Given the description of an element on the screen output the (x, y) to click on. 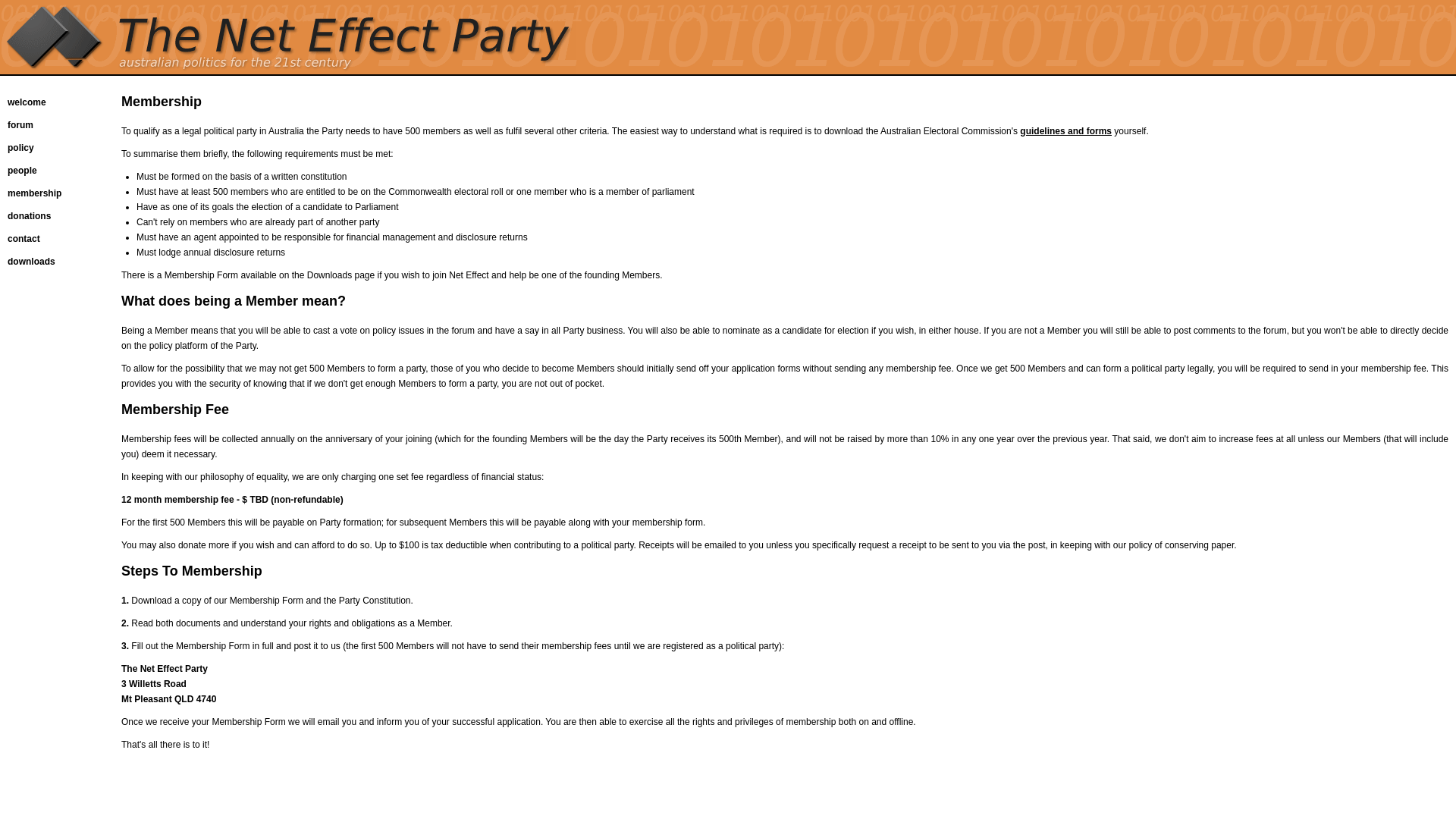
guidelines and forms Element type: text (1065, 130)
people Element type: text (22, 170)
donations Element type: text (28, 215)
welcome Element type: text (26, 102)
contact Element type: text (23, 238)
downloads Element type: text (31, 261)
forum Element type: text (20, 124)
membership Element type: text (34, 193)
policy Element type: text (20, 147)
